Given the description of an element on the screen output the (x, y) to click on. 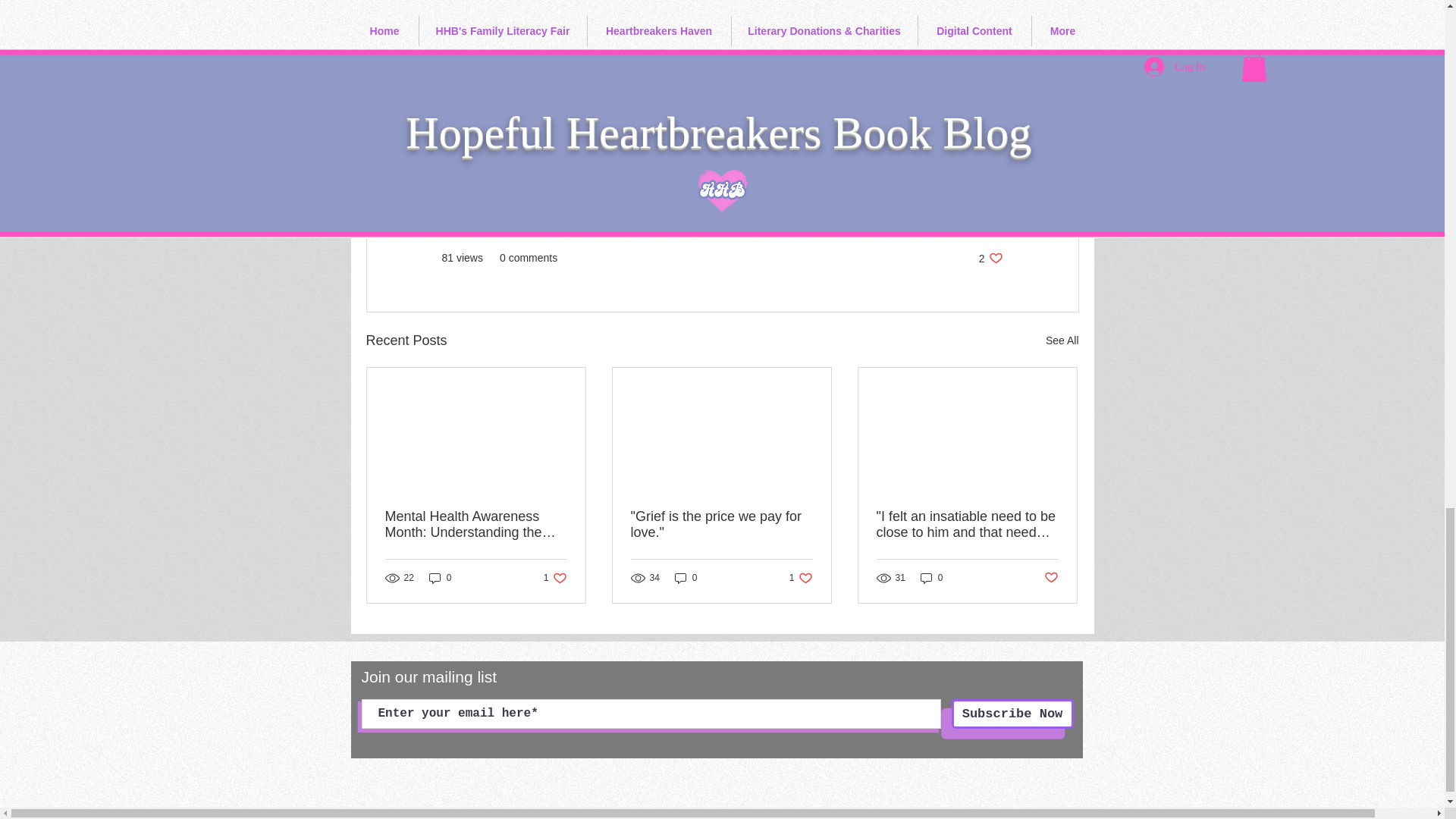
Character Therapy (958, 213)
